Given the description of an element on the screen output the (x, y) to click on. 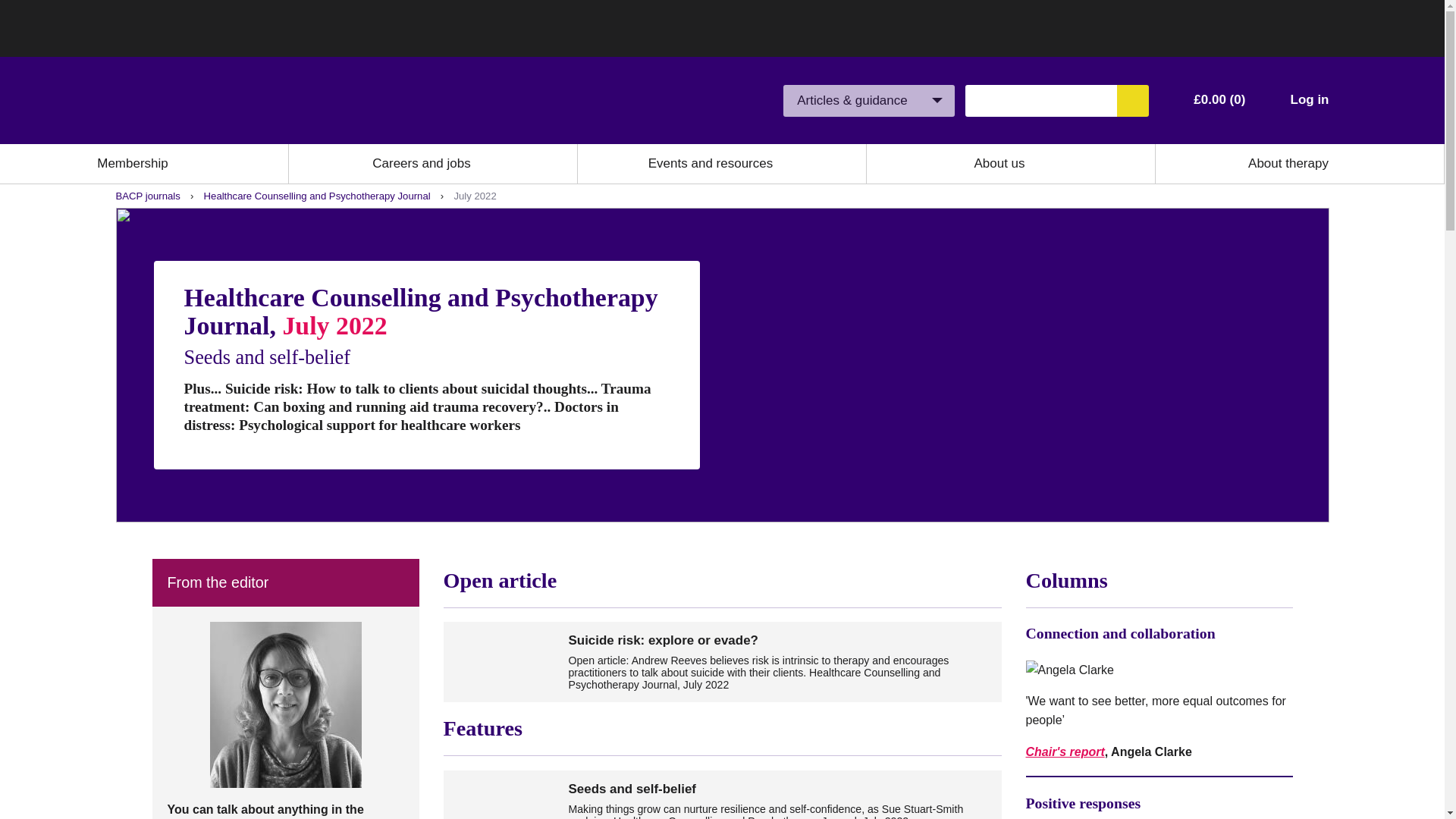
Search the BACP website (1132, 101)
Log in (1309, 99)
Careers and jobs (421, 163)
Events and resources (710, 163)
Membership (132, 163)
